Given the description of an element on the screen output the (x, y) to click on. 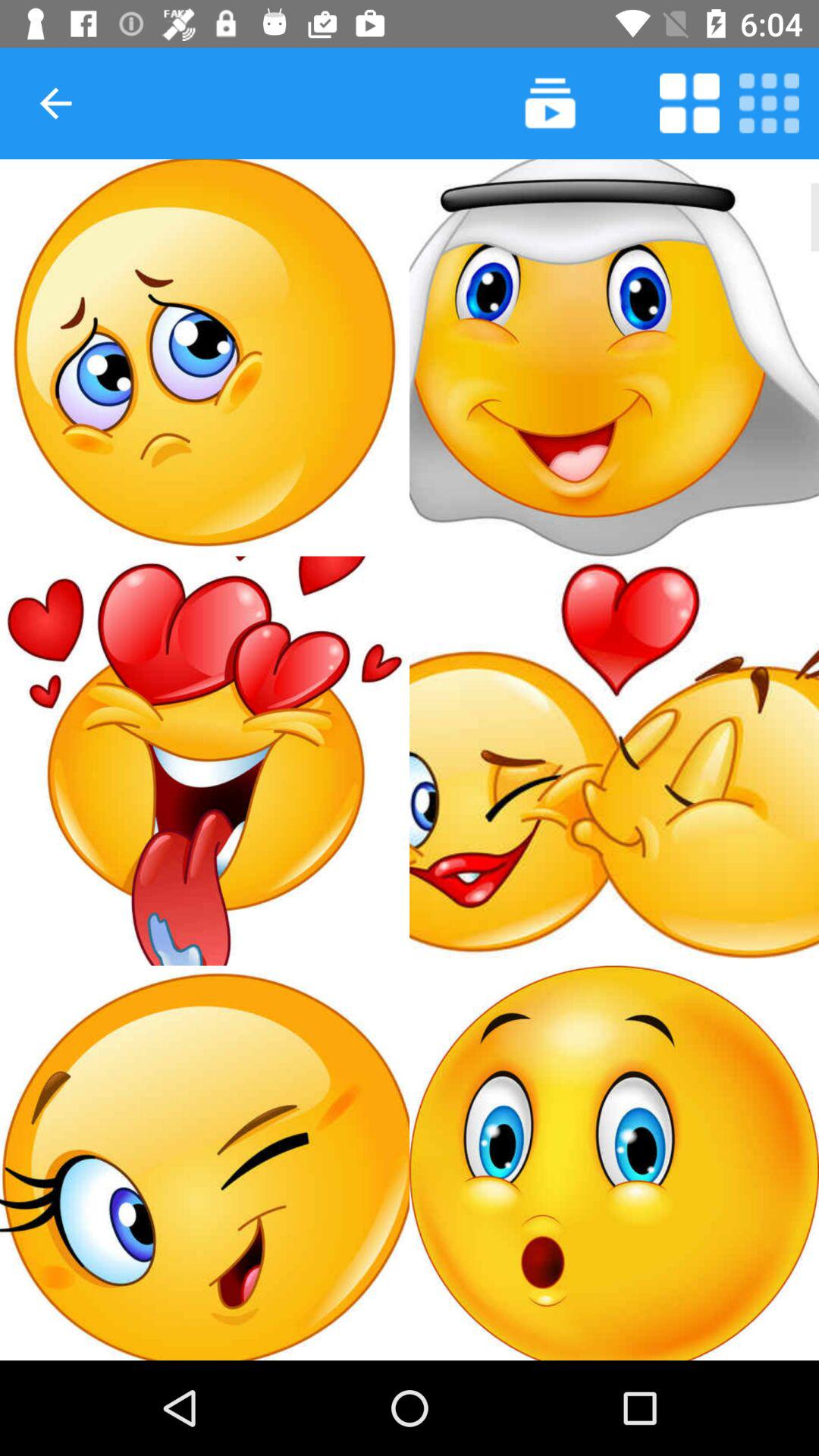
choose surprised emoji (614, 1162)
